Given the description of an element on the screen output the (x, y) to click on. 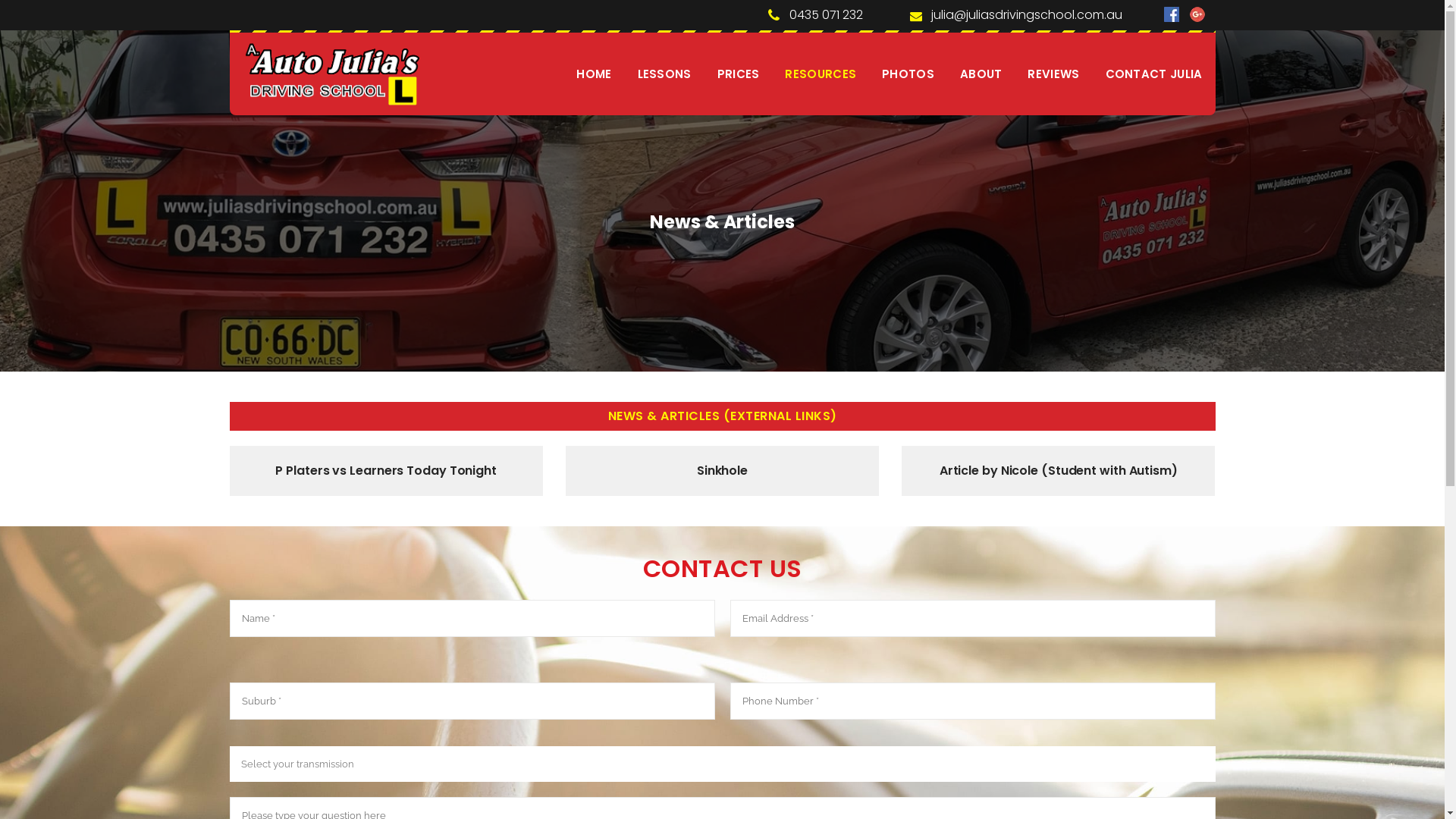
HOME Element type: text (593, 73)
REVIEWS Element type: text (1053, 73)
LESSONS Element type: text (664, 73)
ABOUT Element type: text (981, 73)
Article by Nicole (Student with Autism) Element type: text (1058, 470)
PHOTOS Element type: text (908, 73)
P Platers vs Learners Today Tonight Element type: text (385, 470)
CONTACT JULIA Element type: text (1153, 73)
PRICES Element type: text (738, 73)
Sinkhole Element type: text (721, 470)
RESOURCES Element type: text (820, 73)
